Given the description of an element on the screen output the (x, y) to click on. 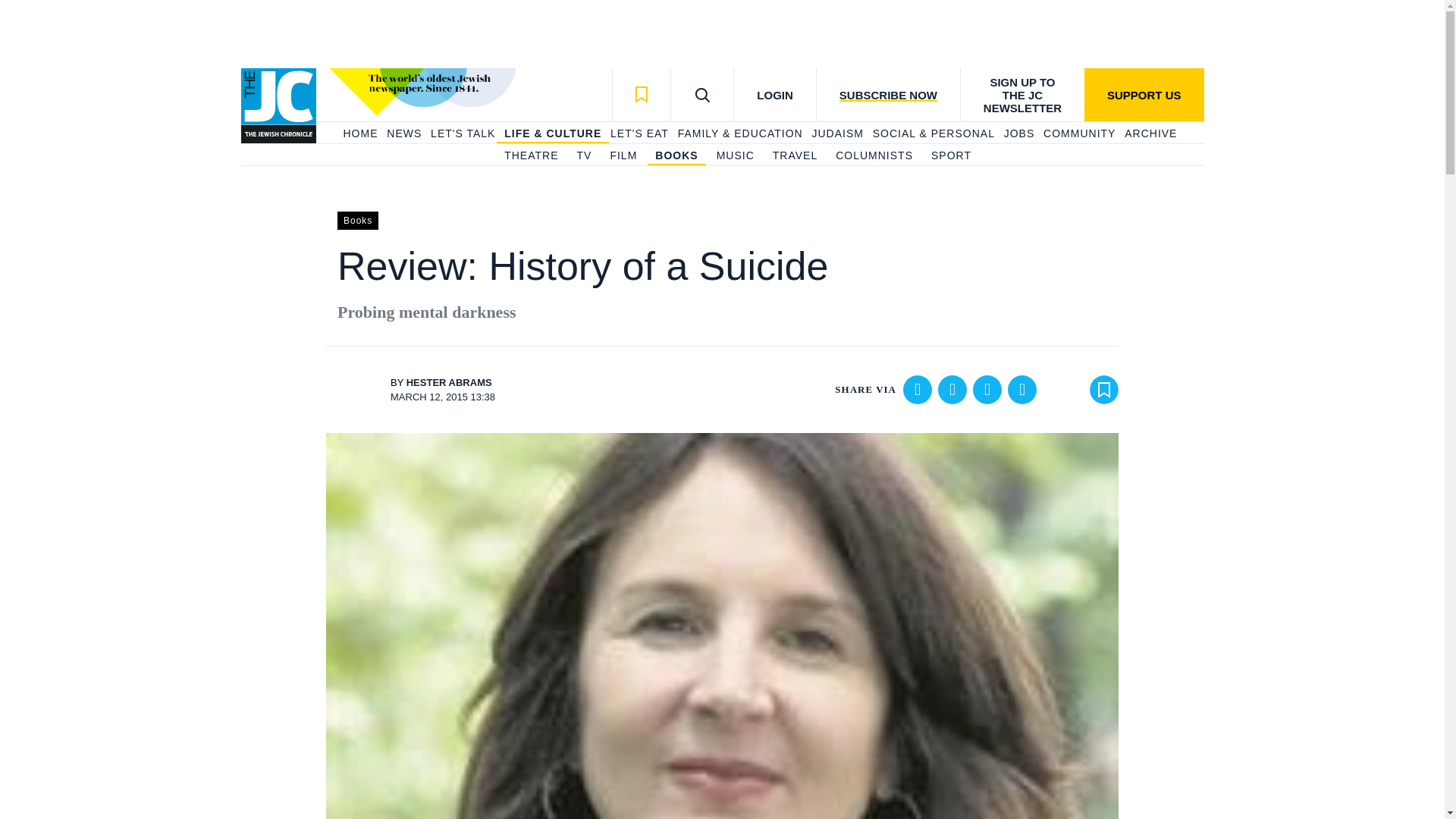
SIGN UP TO THE JC NEWSLETTER (1021, 94)
SPORT (951, 155)
MUSIC (735, 155)
LOGIN (774, 94)
HOME (359, 133)
JUDAISM (836, 133)
SUPPORT US (1144, 94)
COLUMNISTS (873, 155)
TRAVEL (794, 155)
COMMUNITY (1079, 133)
